Given the description of an element on the screen output the (x, y) to click on. 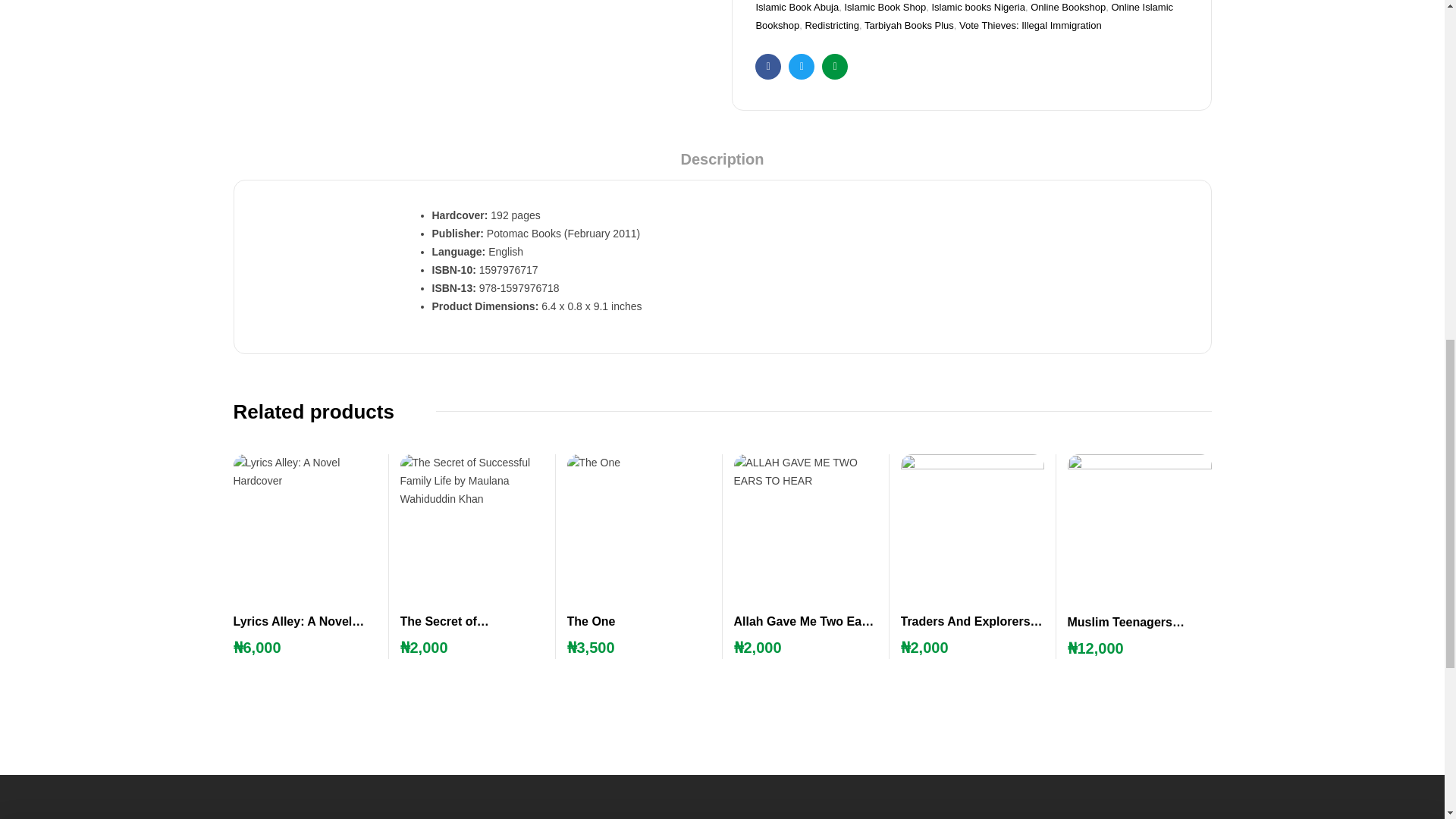
Email to a Friend (834, 66)
Share on facebook (767, 66)
Share on Twitter (801, 66)
